Given the description of an element on the screen output the (x, y) to click on. 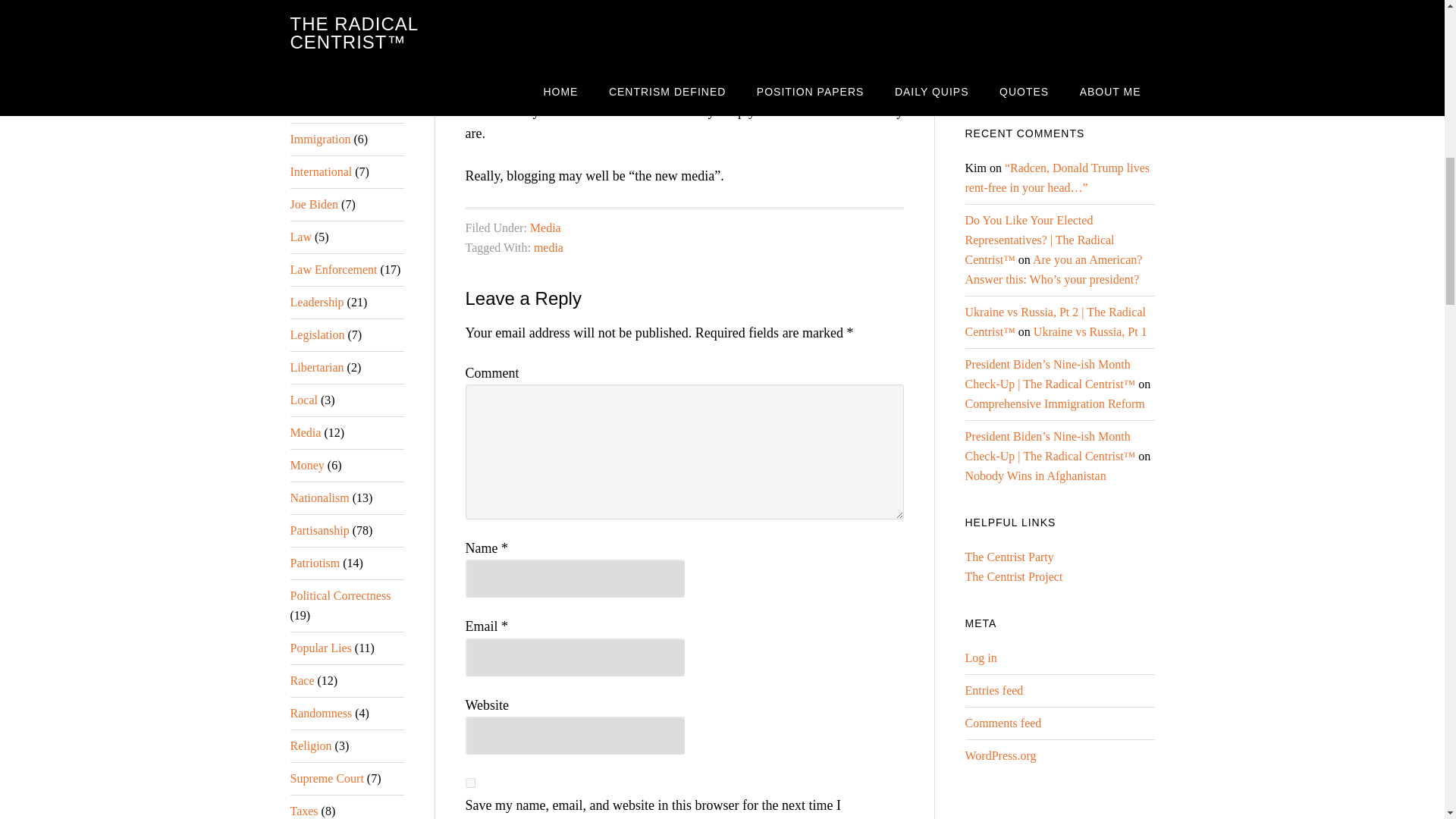
The Centrist Project (1012, 576)
Ukraine vs Russia, Pt 1 (1090, 331)
Log in (979, 657)
media (548, 246)
The Centrist Party (1007, 556)
Who do your elected representatives represent? (1052, 76)
Nobody Wins in Afghanistan (1034, 475)
Media (544, 227)
Comments feed (1002, 722)
WordPress.org (999, 755)
